Given the description of an element on the screen output the (x, y) to click on. 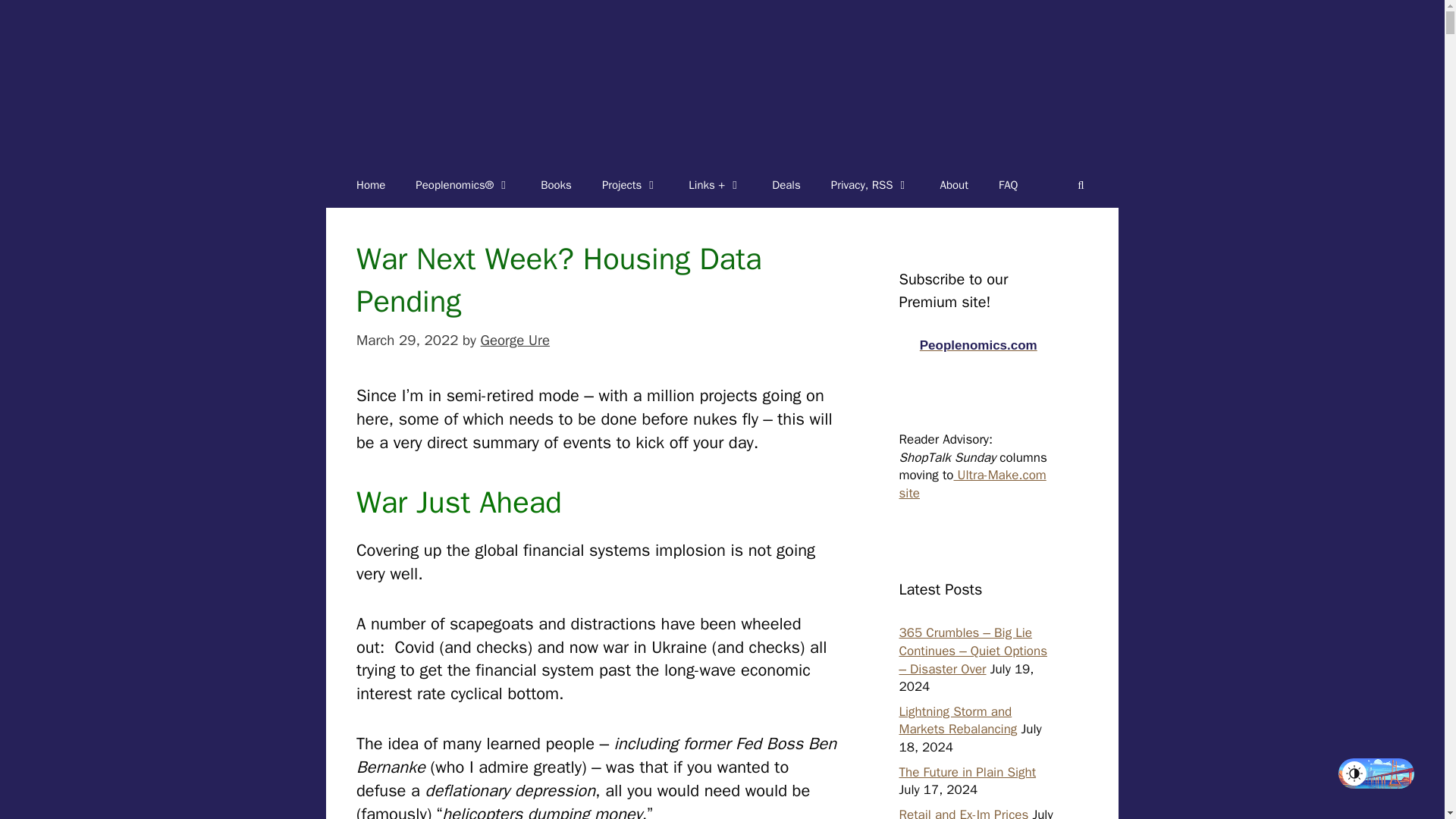
Projects (629, 185)
Home (370, 185)
View all posts by George Ure (515, 340)
Books (555, 185)
type: generatepress (370, 185)
